Given the description of an element on the screen output the (x, y) to click on. 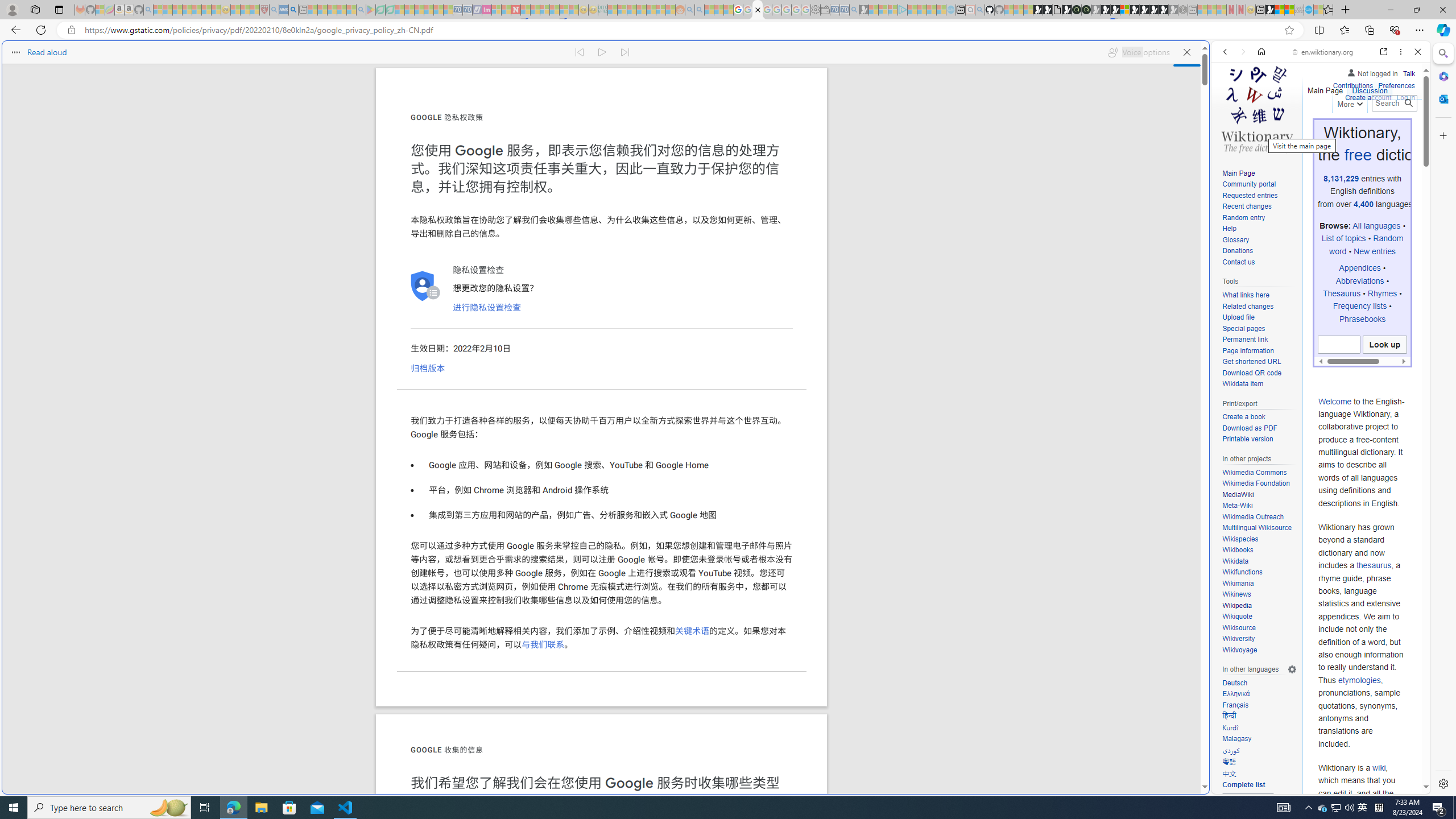
Complete list (1259, 785)
Wikinews (1235, 594)
Meta-Wiki (1259, 505)
